Given the description of an element on the screen output the (x, y) to click on. 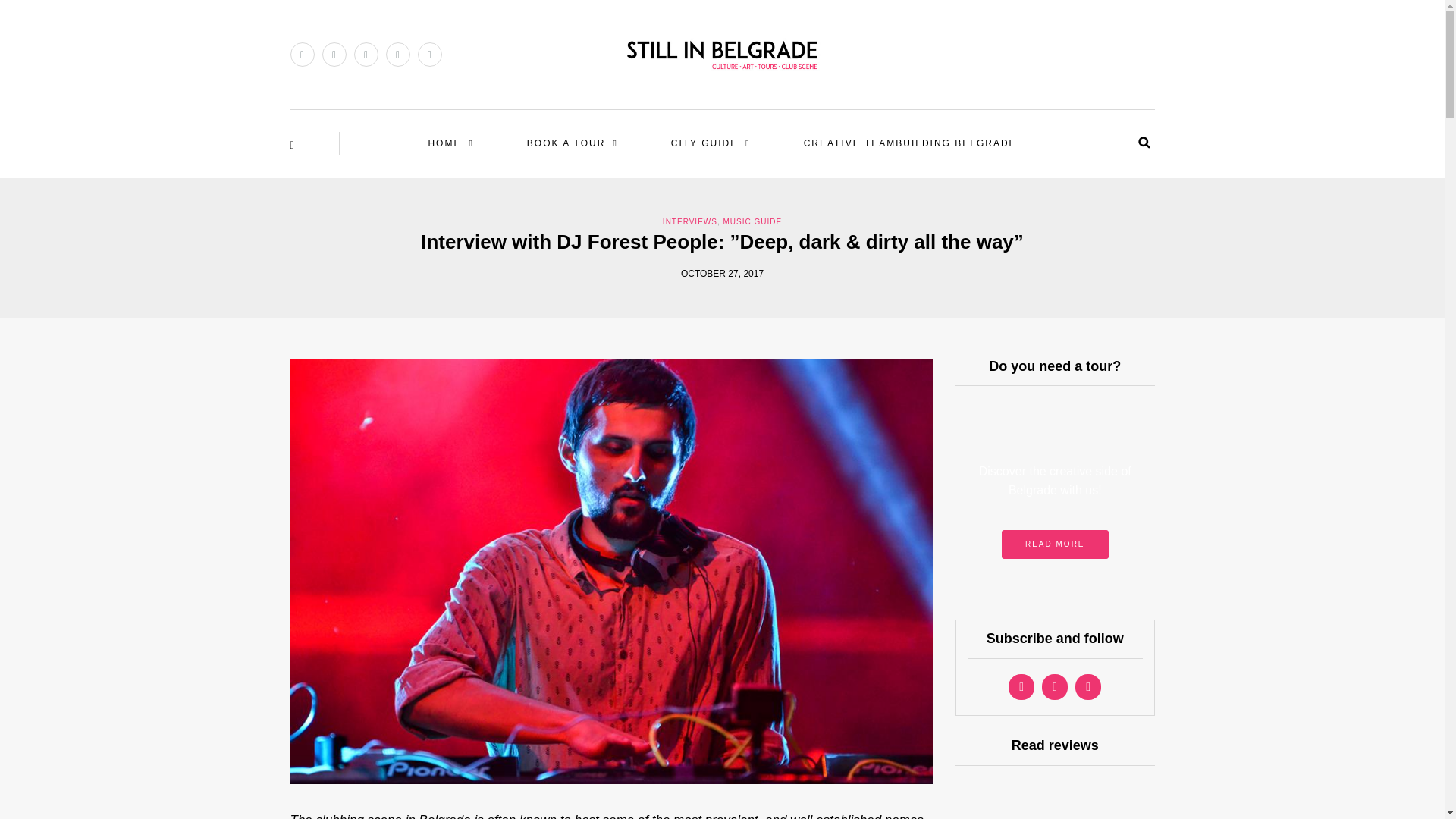
HOME (450, 143)
BOOK A TOUR (571, 143)
CITY GUIDE (710, 143)
